Given the description of an element on the screen output the (x, y) to click on. 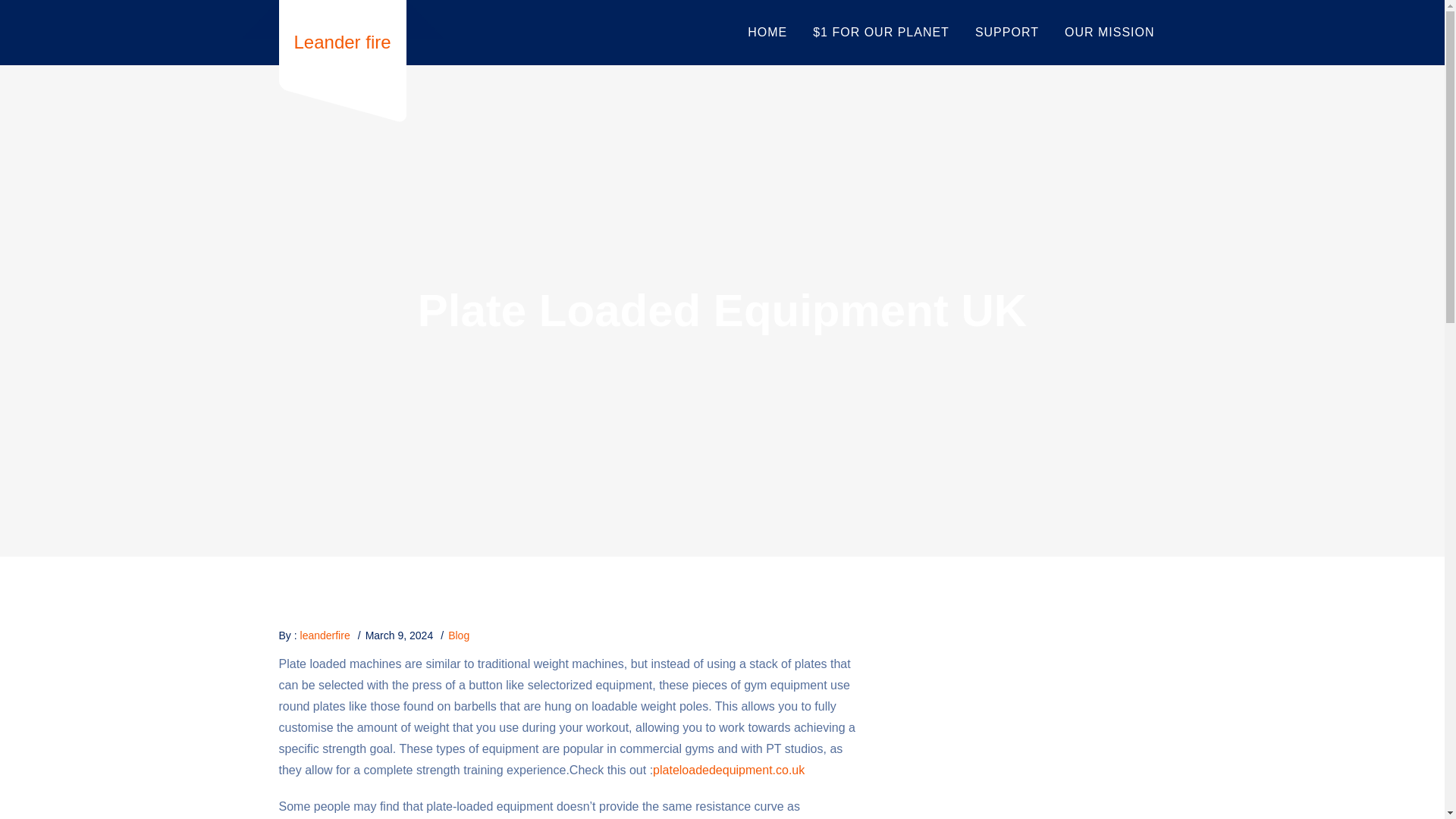
OUR MISSION (1109, 32)
plateloadedequipment.co.uk (728, 770)
Leander fire (342, 42)
leanderfire (324, 635)
Blog (458, 635)
Home (766, 32)
HOME (766, 32)
Our Mission (1109, 32)
SUPPORT (1006, 32)
Support (1006, 32)
